Given the description of an element on the screen output the (x, y) to click on. 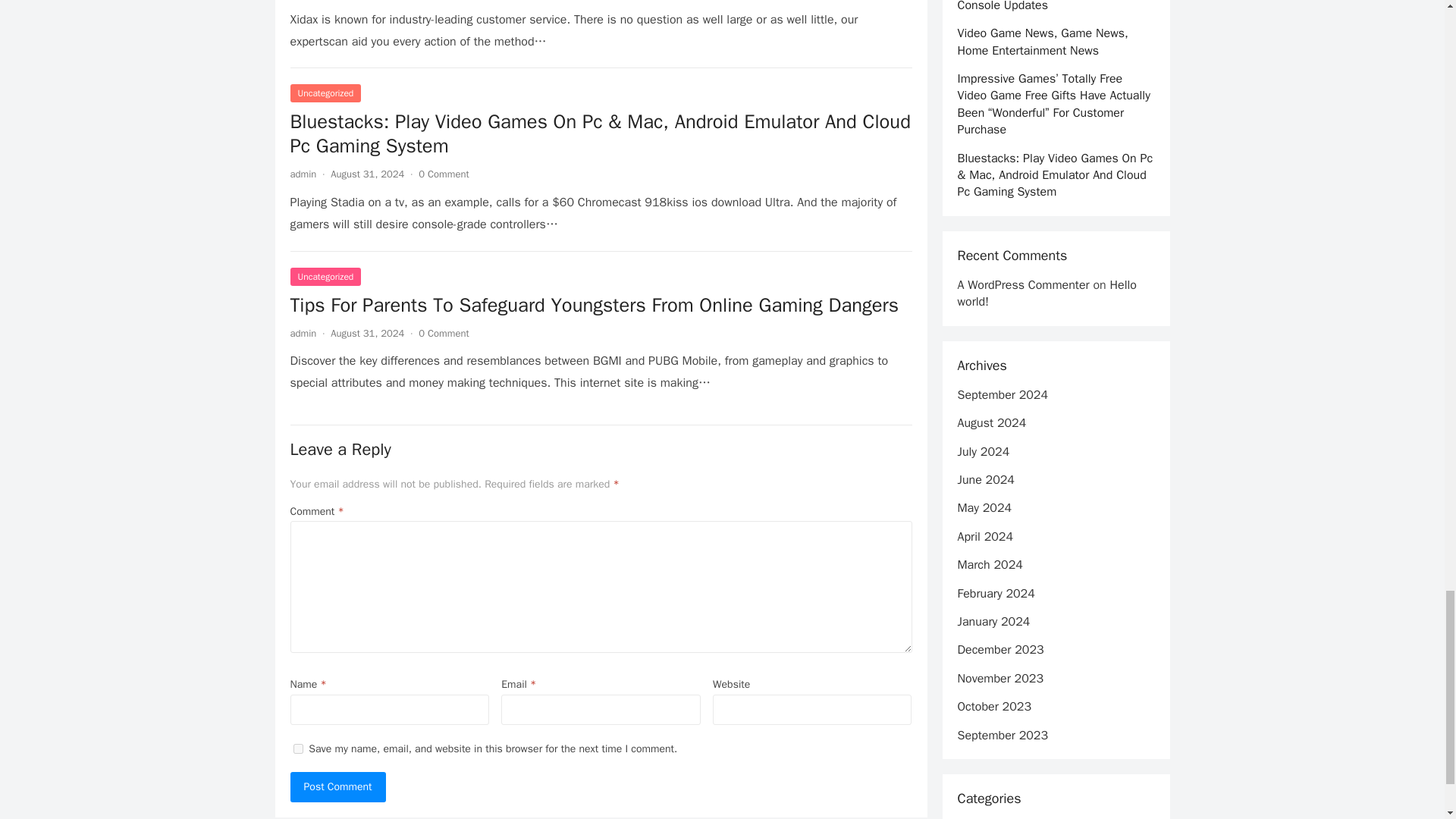
Uncategorized (325, 93)
0 Comment (443, 332)
0 Comment (443, 173)
Post Comment (337, 787)
admin (302, 173)
admin (302, 332)
yes (297, 748)
Uncategorized (325, 276)
Post Comment (337, 787)
